Given the description of an element on the screen output the (x, y) to click on. 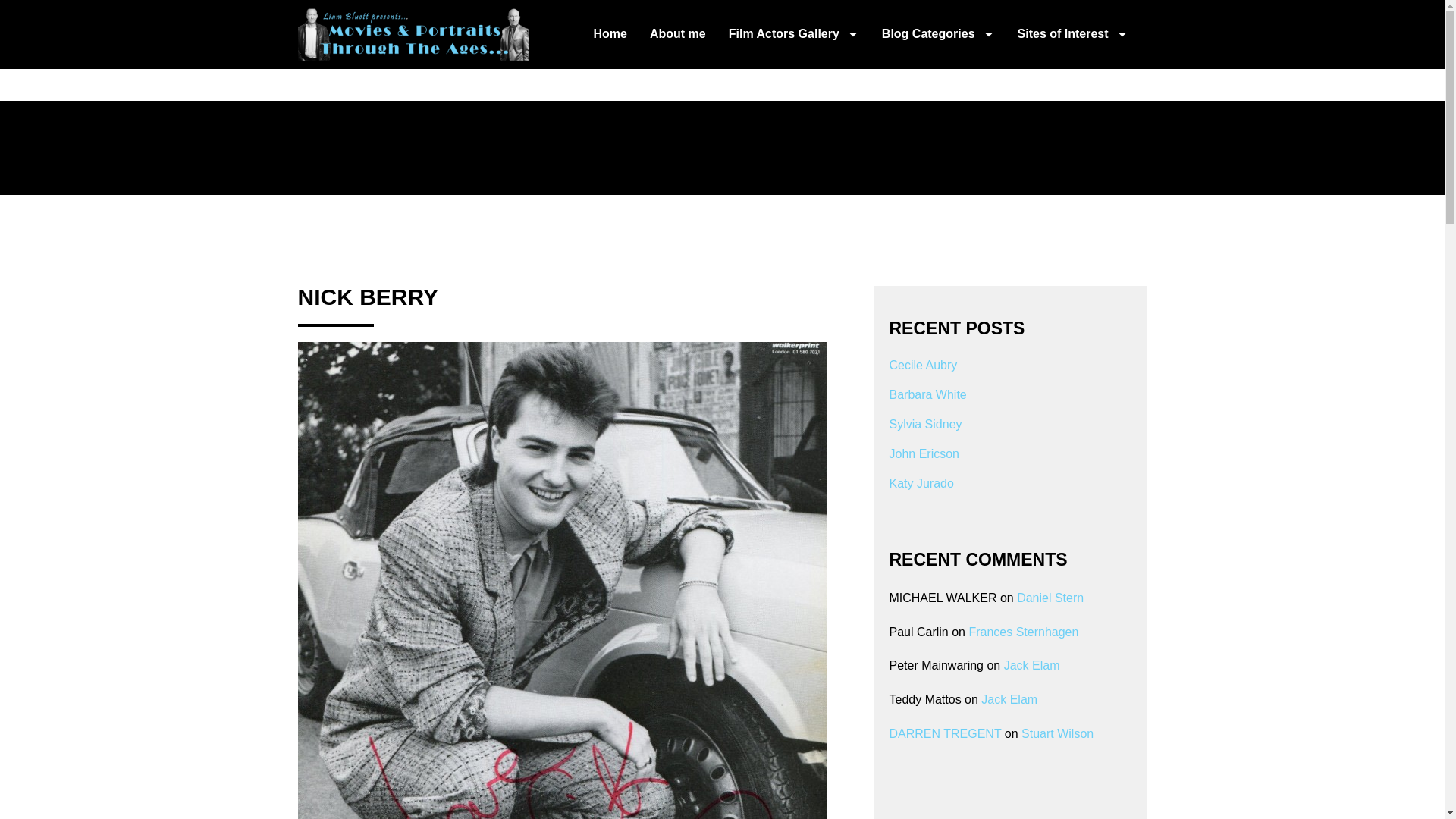
About me (677, 33)
Blog Categories (939, 33)
Home (609, 33)
Sites of Interest (1072, 33)
Film Actors Gallery (793, 33)
